Given the description of an element on the screen output the (x, y) to click on. 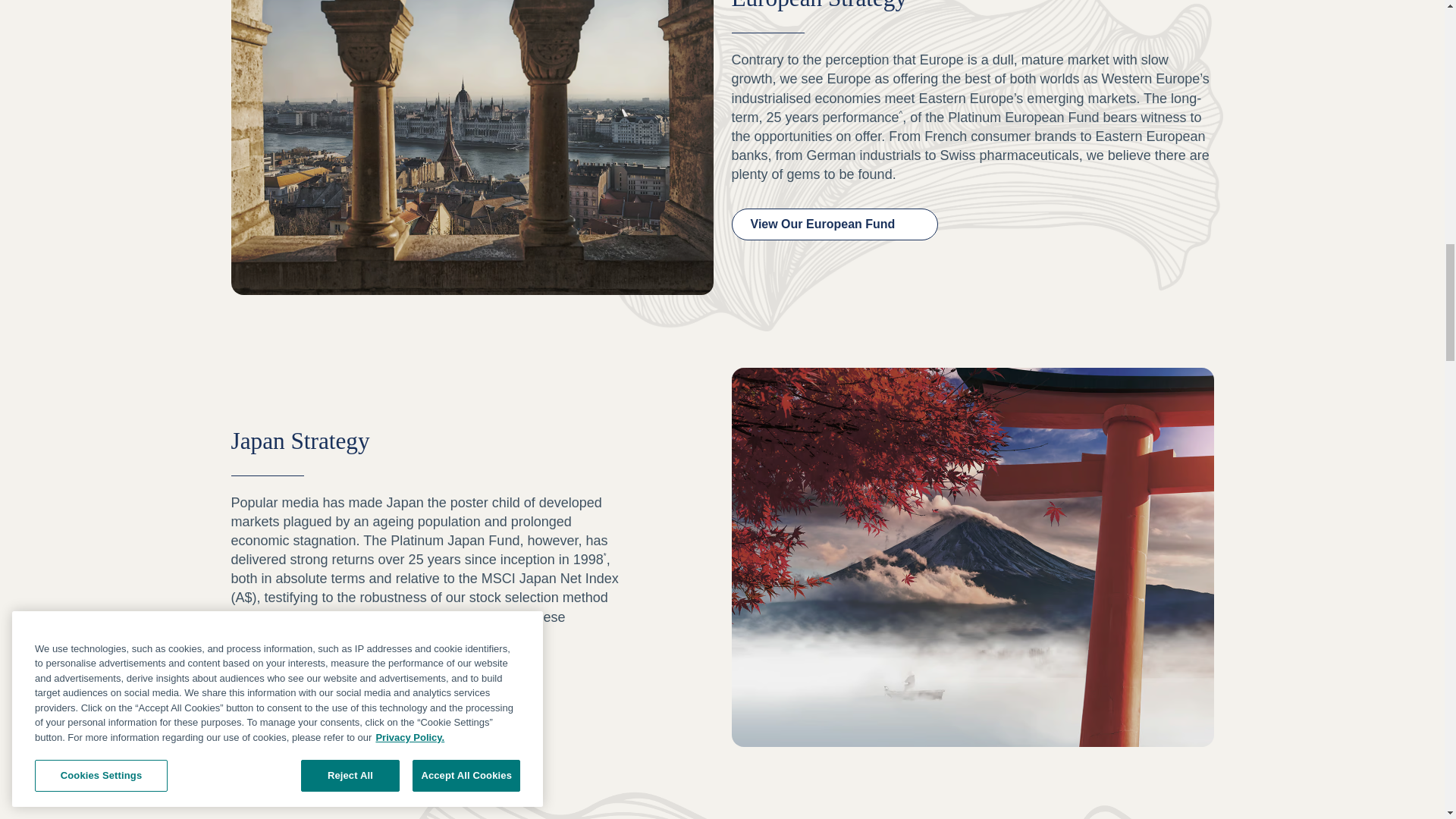
Sector Strategy (722, 800)
